Given the description of an element on the screen output the (x, y) to click on. 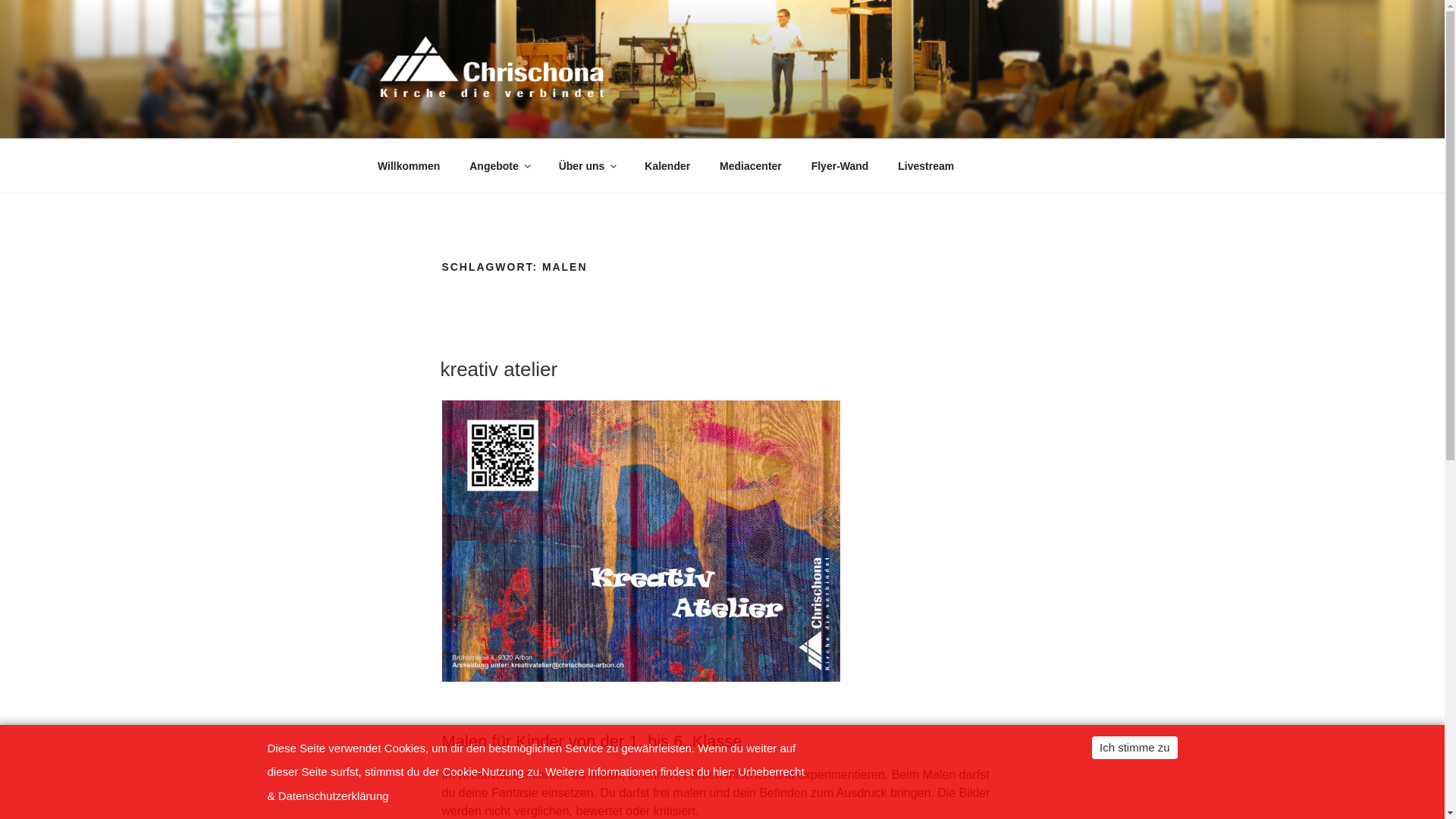
kreativ atelier Element type: text (498, 368)
Kalender Element type: text (667, 165)
Angebote Element type: text (499, 165)
Willkommen Element type: text (408, 165)
Ich stimme zu Element type: text (1134, 746)
Mediacenter Element type: text (750, 165)
Flyer-Wand Element type: text (839, 165)
Livestream Element type: text (925, 165)
CHRISCHONA ARBON Element type: text (541, 118)
